Given the description of an element on the screen output the (x, y) to click on. 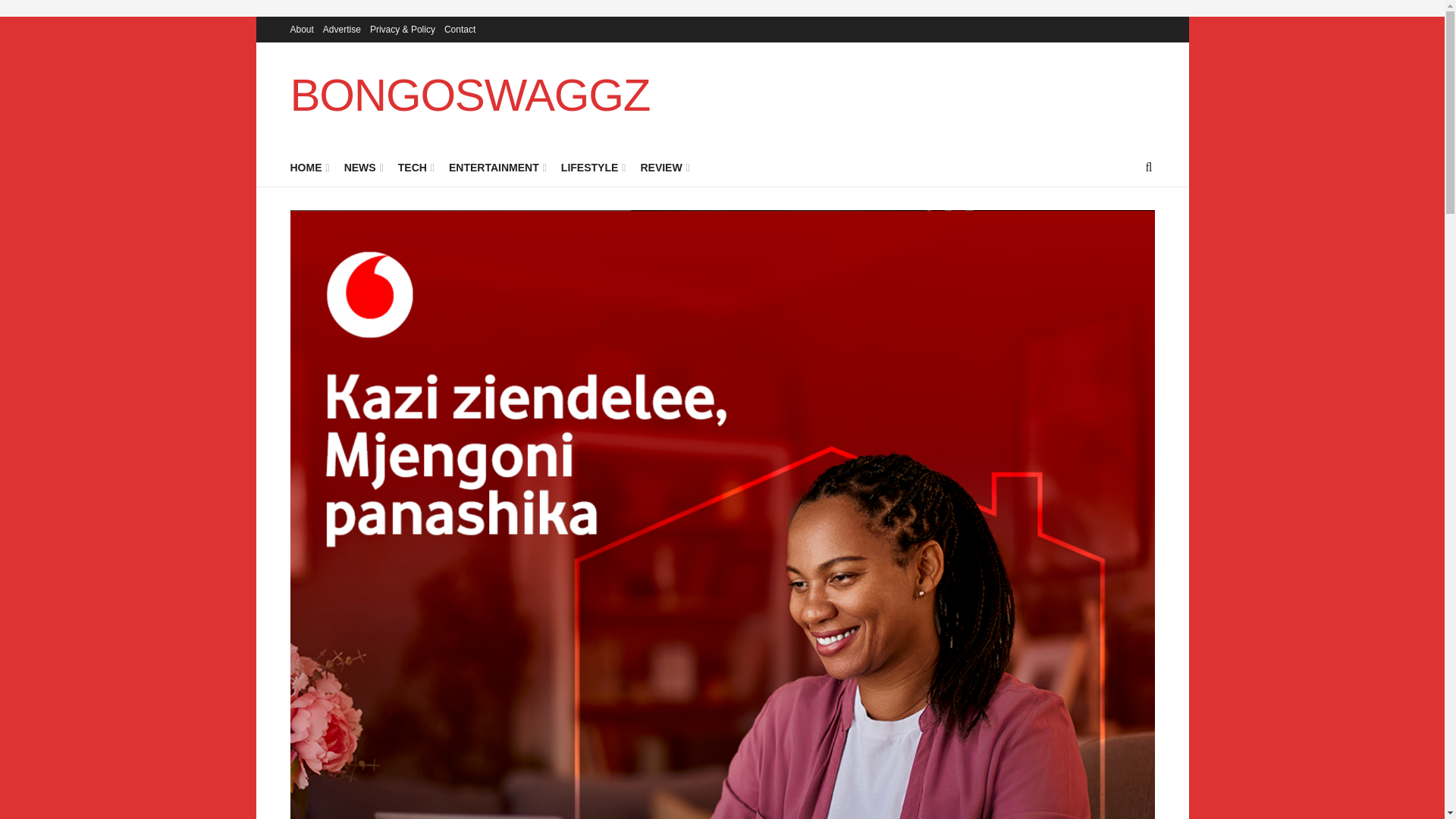
BONGOSWAGGZ (469, 94)
Advertise (342, 29)
TECH (414, 167)
NEWS (362, 167)
About (301, 29)
HOME (307, 167)
Contact (460, 29)
